Given the description of an element on the screen output the (x, y) to click on. 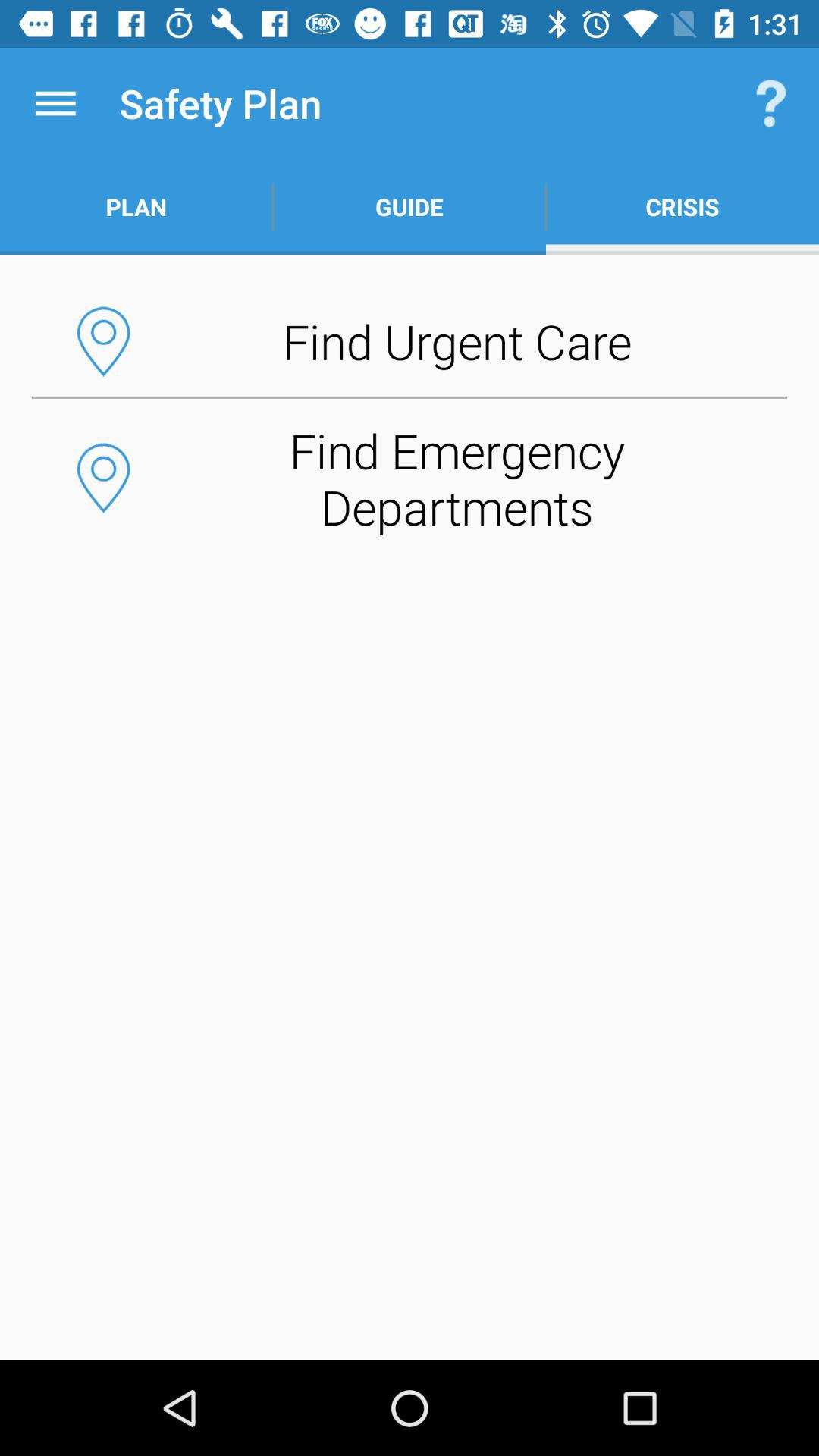
click the app next to safety plan icon (55, 103)
